Given the description of an element on the screen output the (x, y) to click on. 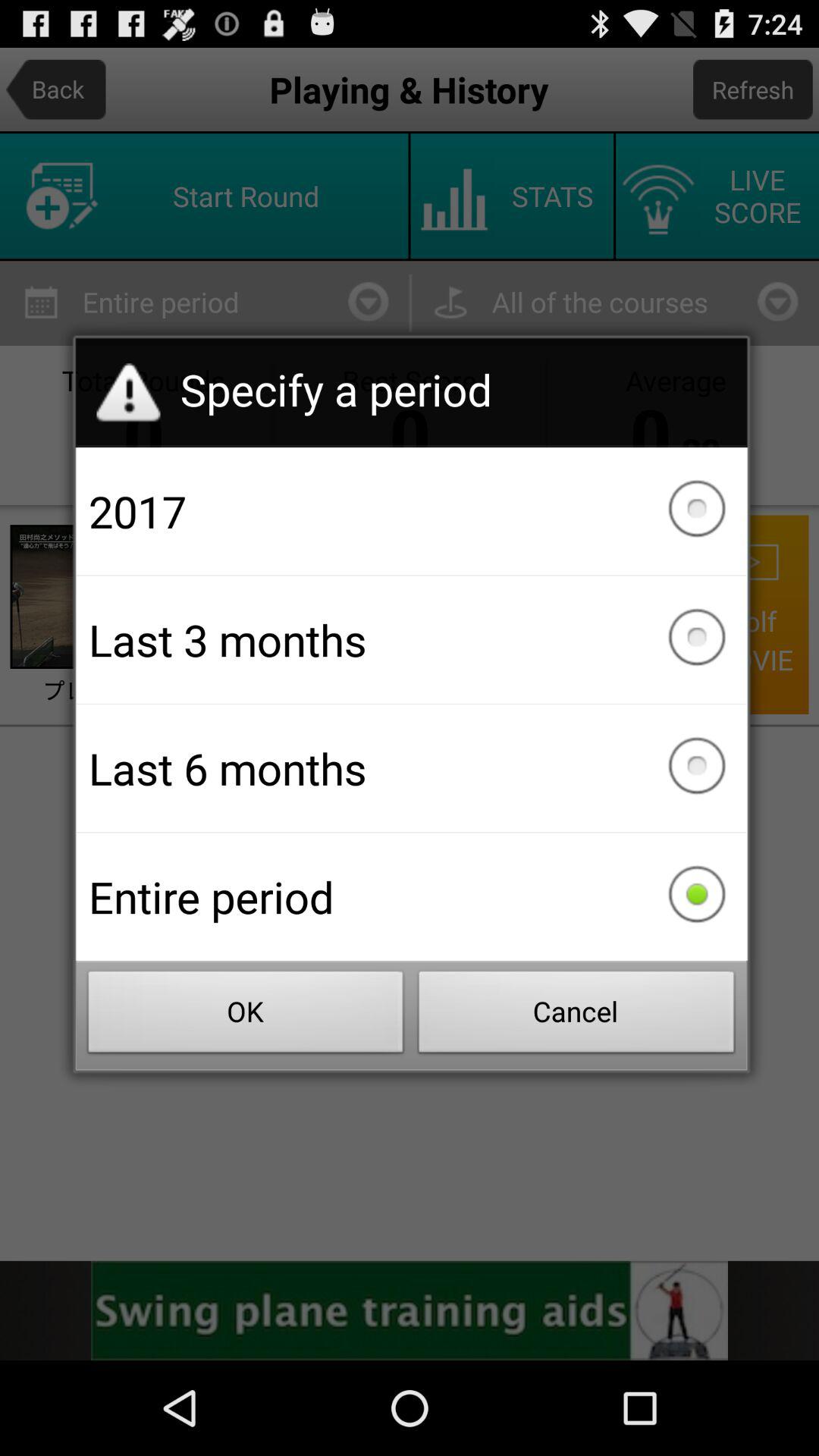
open the item below entire period (245, 1016)
